Given the description of an element on the screen output the (x, y) to click on. 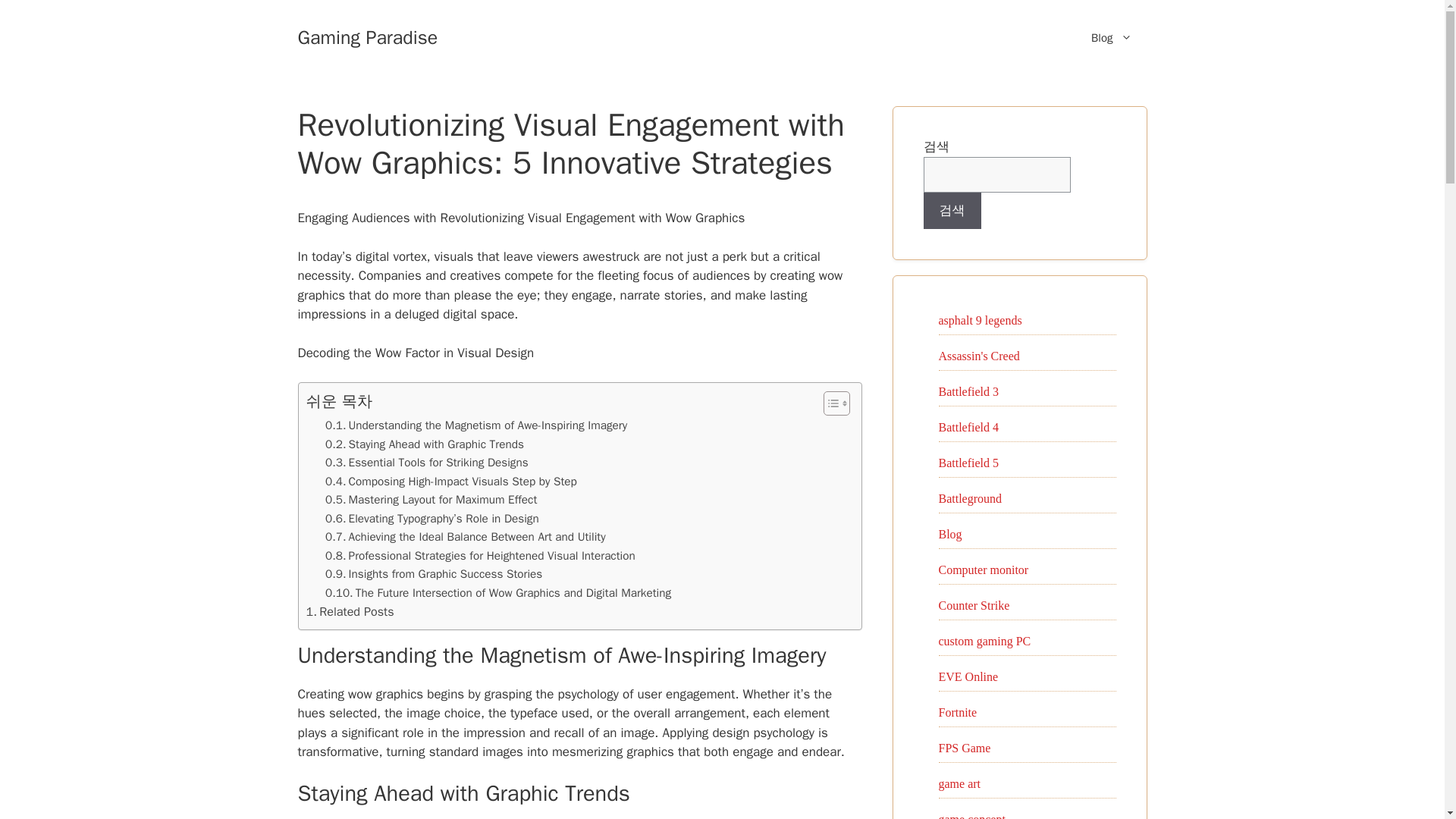
Essential Tools for Striking Designs (426, 462)
Mastering Layout for Maximum Effect (430, 499)
Related Posts (349, 611)
Staying Ahead with Graphic Trends (424, 443)
Essential Tools for Striking Designs (426, 462)
Battlefield 5 (968, 462)
Battleground (971, 497)
custom gaming PC (984, 640)
Professional Strategies for Heightened Visual Interaction (479, 556)
Staying Ahead with Graphic Trends (424, 443)
Mastering Layout for Maximum Effect (430, 499)
Battlefield 4 (968, 426)
Composing High-Impact Visuals Step by Step (450, 481)
Achieving the Ideal Balance Between Art and Utility (464, 536)
